Given the description of an element on the screen output the (x, y) to click on. 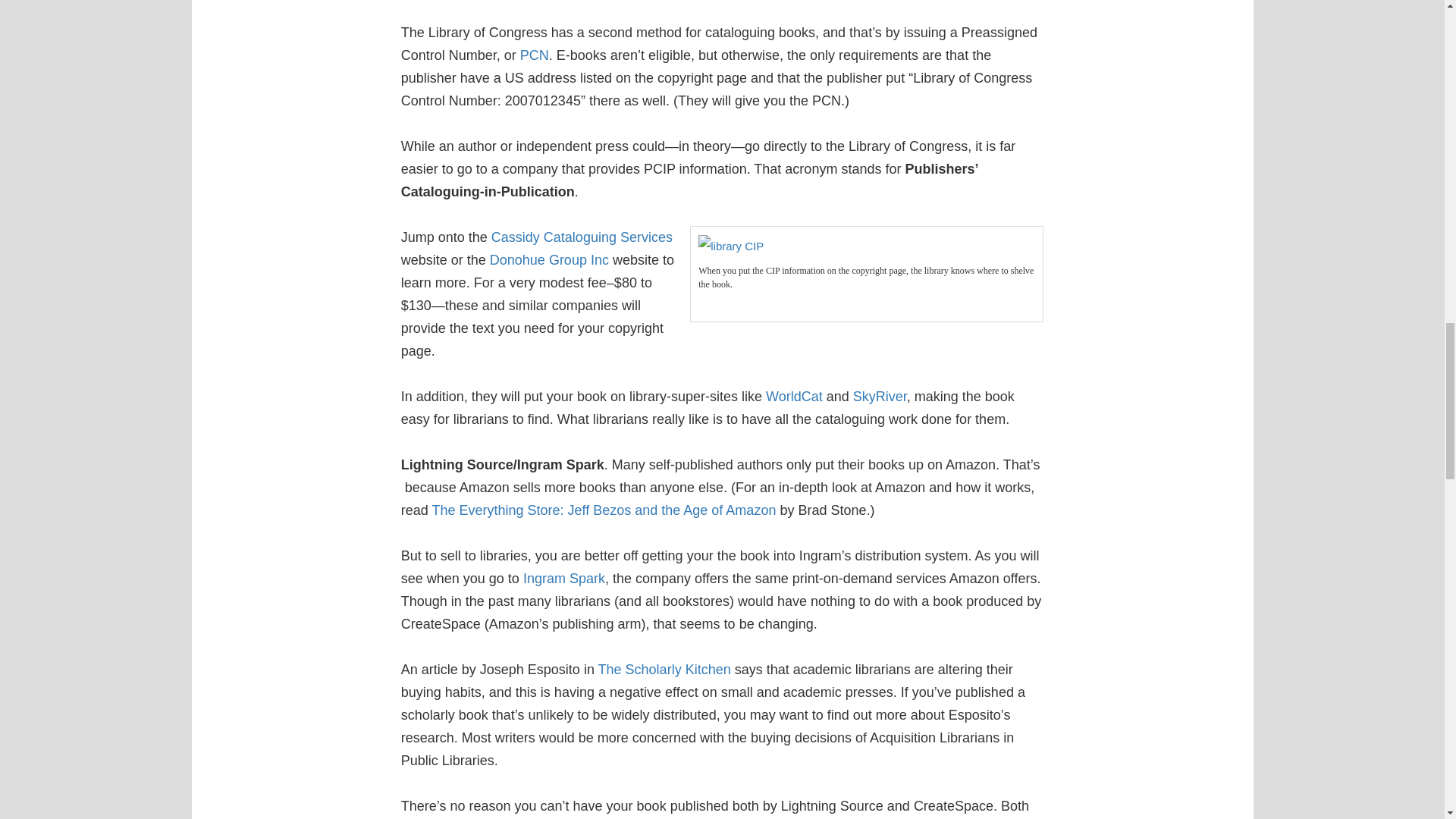
Cassidy Cataloguing Services (582, 236)
The Scholarly Kitchen (664, 668)
Ingram Spark (563, 577)
Donohue Group Inc (548, 258)
SkyRiver (880, 395)
PCN (533, 54)
WorldCat (793, 395)
The Everything Store: Jeff Bezos and the Age of Amazon (603, 509)
